Given the description of an element on the screen output the (x, y) to click on. 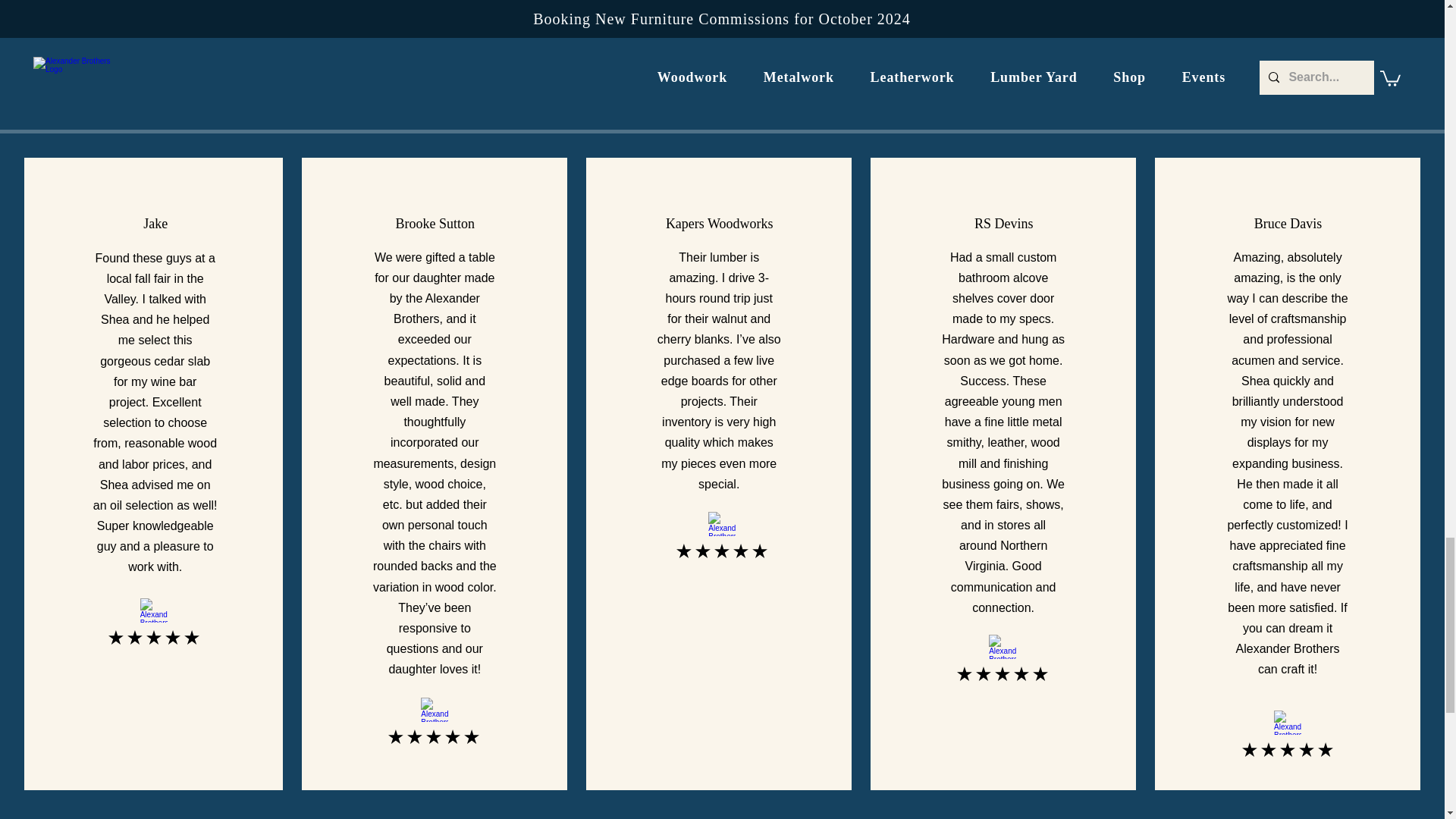
Post not marked as liked (804, 72)
Brooke Sutton (436, 223)
Jake (154, 223)
0 (440, 72)
Post not marked as liked (558, 72)
THE PURSUIT OF HAPPINESS. (476, 20)
Kapers Woodworks (719, 223)
0 (685, 72)
